Given the description of an element on the screen output the (x, y) to click on. 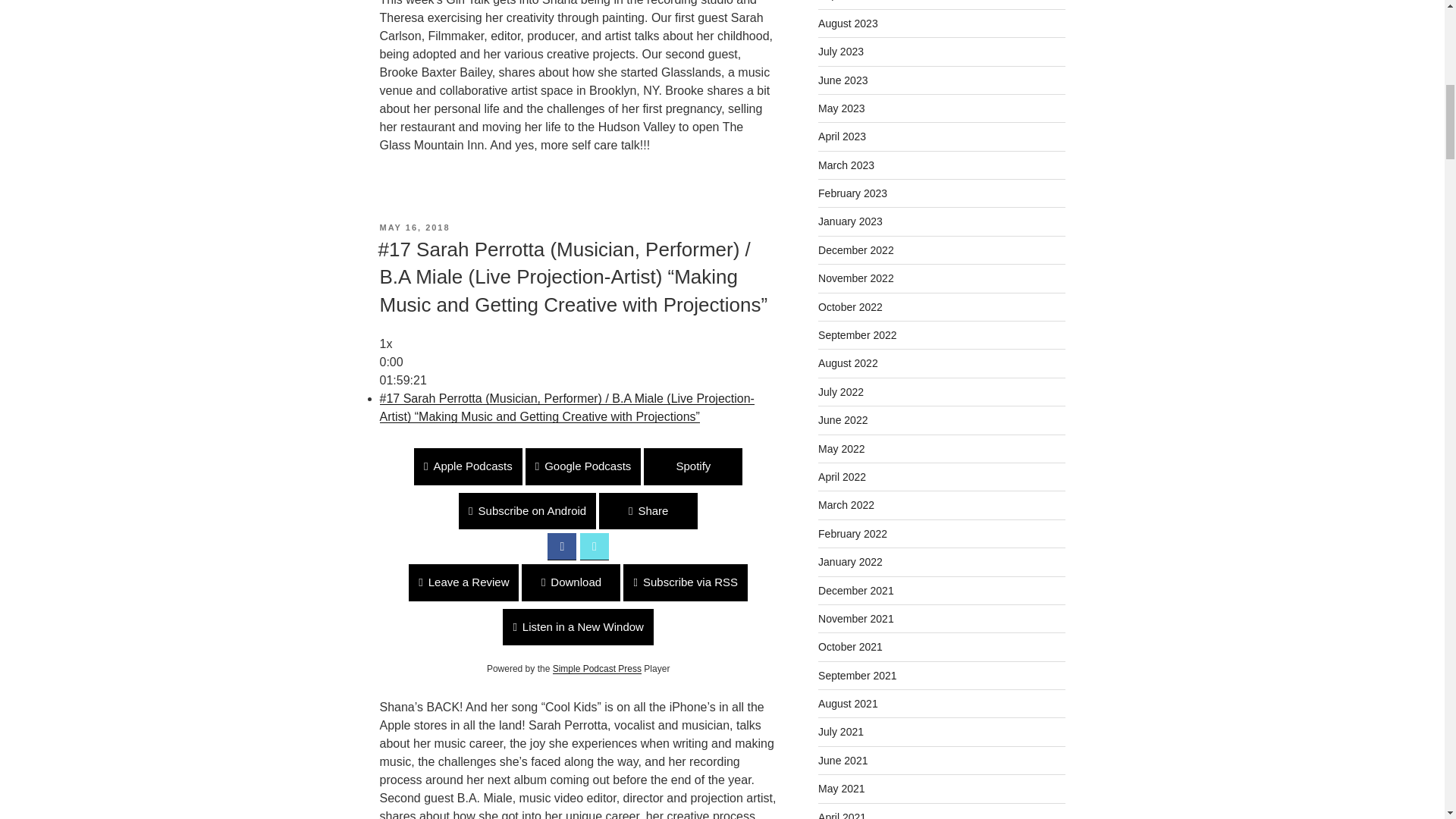
Share on Twitter (593, 546)
MAY 16, 2018 (413, 226)
Share on Facebook (561, 546)
Apple Podcasts (467, 466)
